Given the description of an element on the screen output the (x, y) to click on. 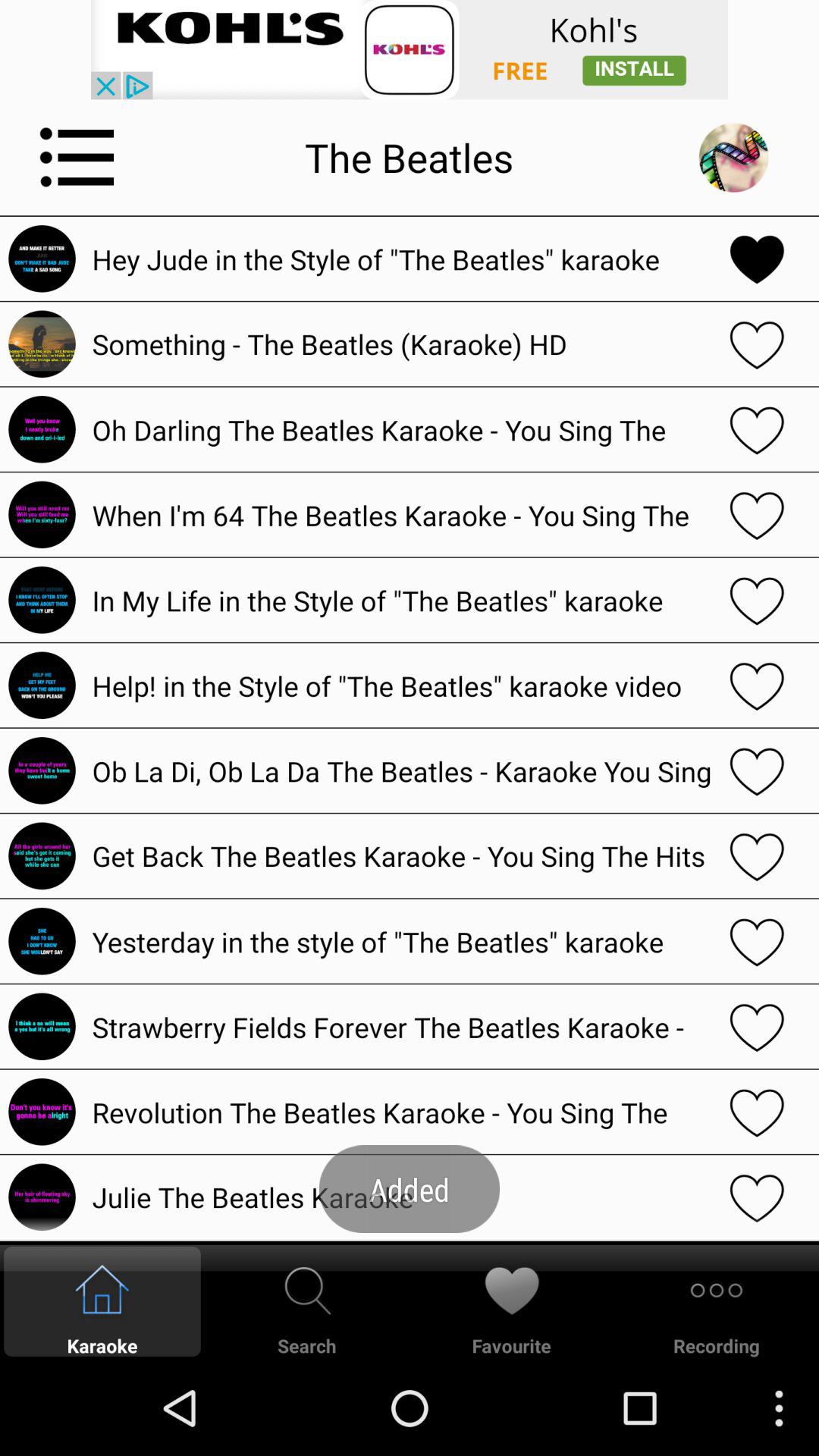
click to like option (756, 599)
